Given the description of an element on the screen output the (x, y) to click on. 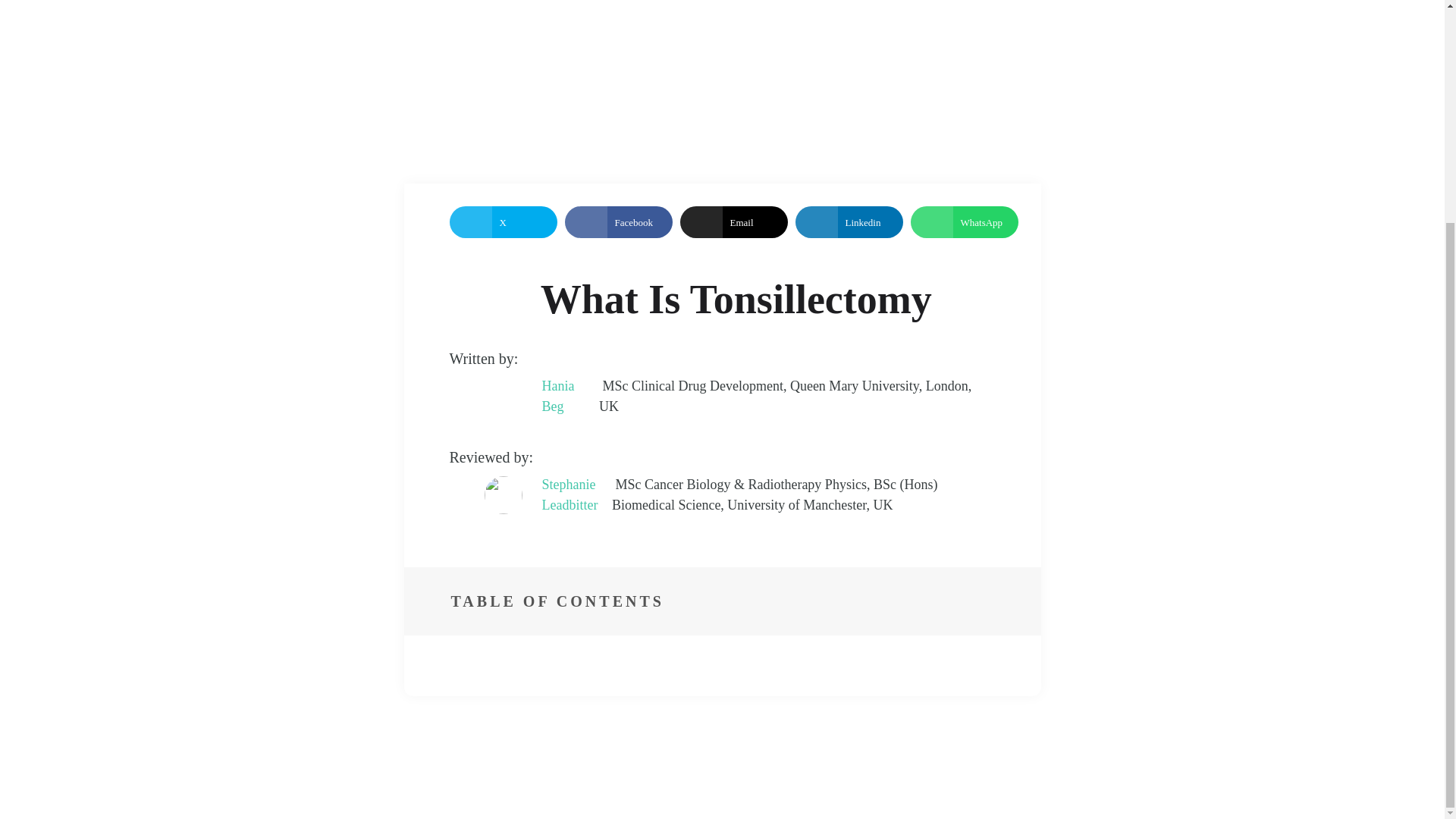
X (502, 222)
Hania Beg (569, 395)
Linkedin (848, 222)
WhatsApp (963, 222)
Email (733, 222)
Stephanie Leadbitter (576, 495)
Facebook (617, 222)
